Given the description of an element on the screen output the (x, y) to click on. 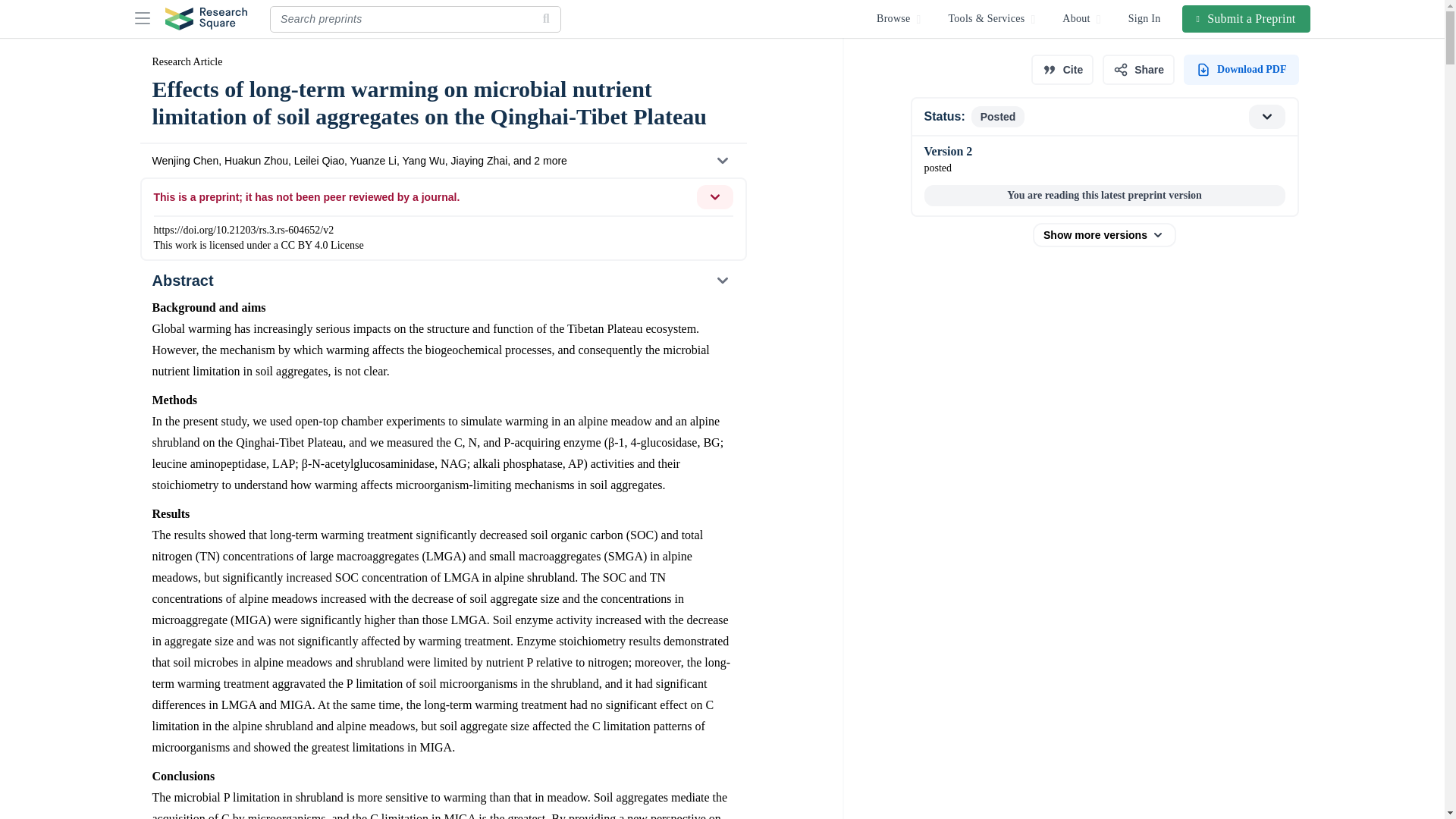
Sign In (1144, 18)
Submit a Preprint (1246, 18)
Abstract (442, 280)
